Given the description of an element on the screen output the (x, y) to click on. 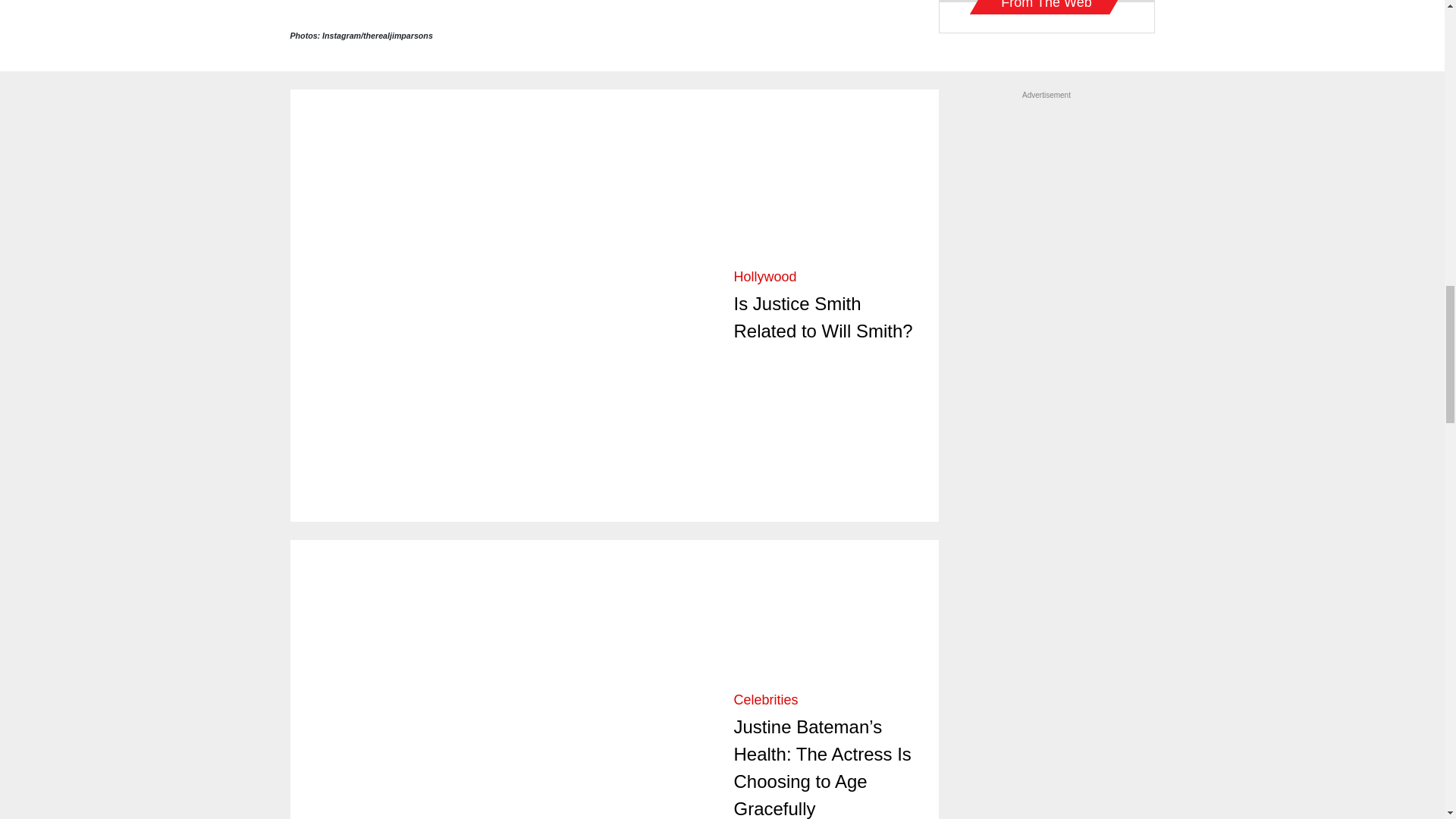
Category Name (765, 699)
Hollywood (764, 276)
Category Name (764, 276)
